Given the description of an element on the screen output the (x, y) to click on. 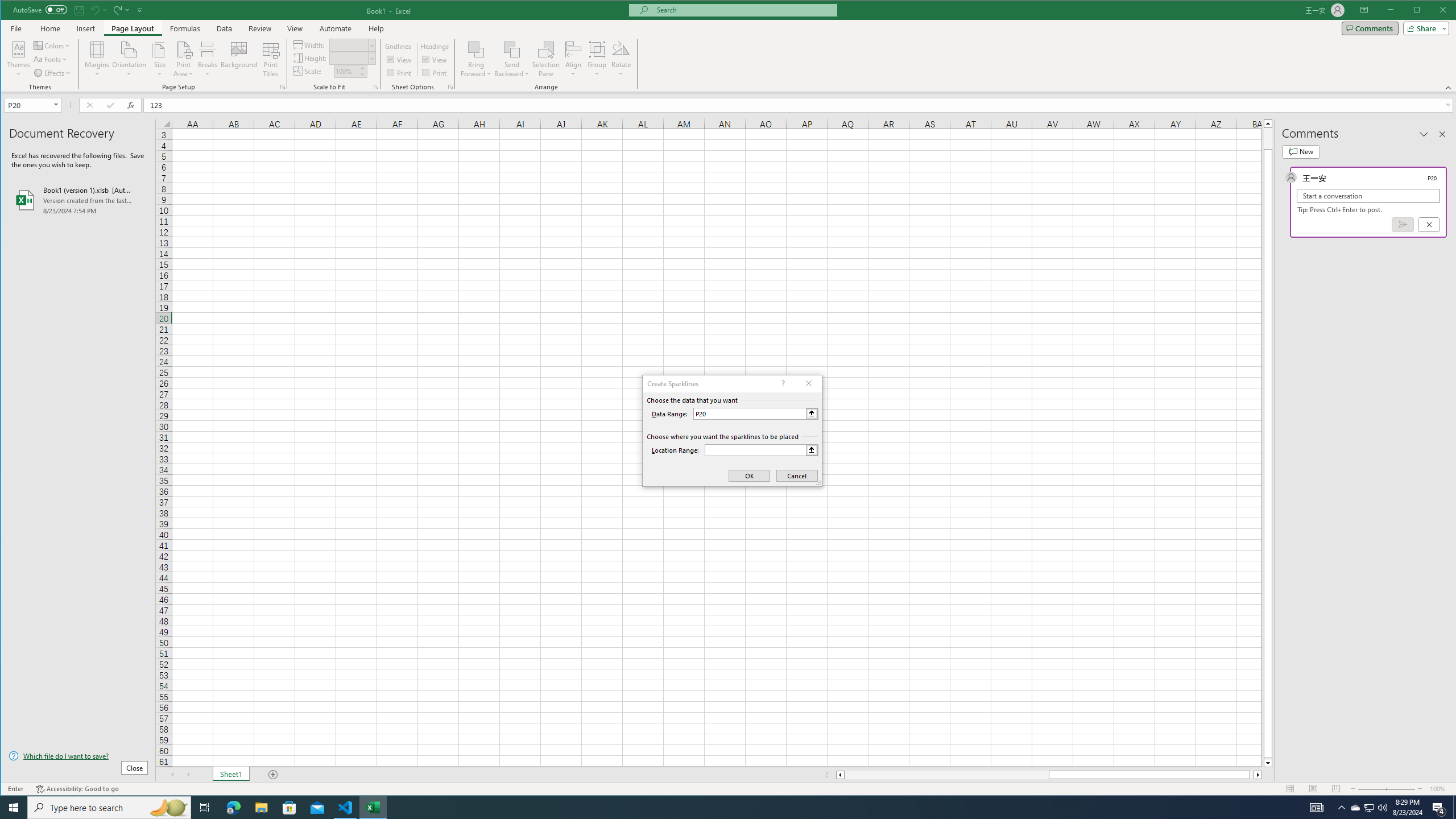
Height (352, 57)
Print Titles (270, 59)
Background... (239, 59)
